Given the description of an element on the screen output the (x, y) to click on. 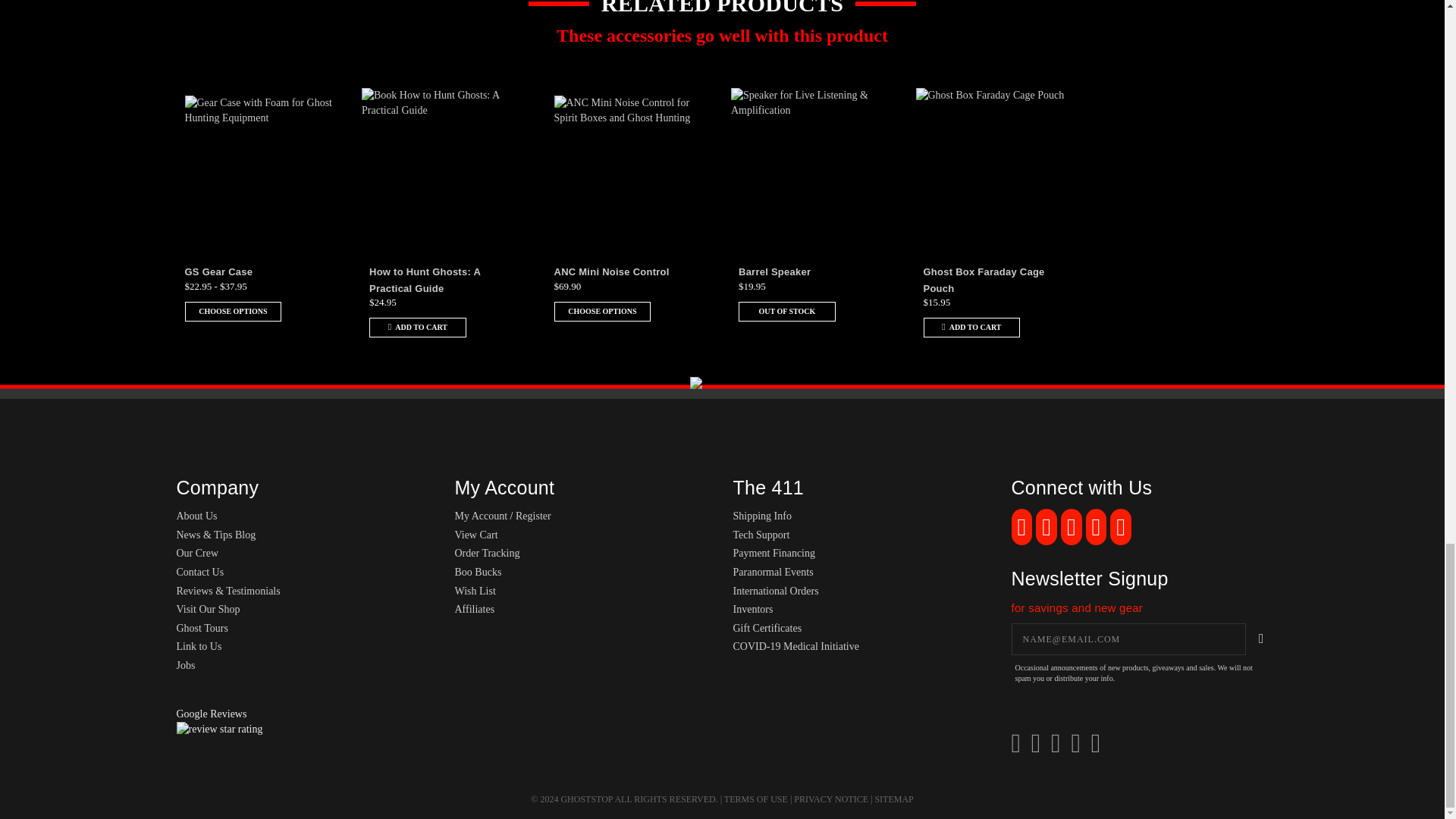
GS Gear Case (218, 271)
How to Hunt Ghosts: A Practical Guide (424, 280)
Book How to Hunt Ghosts: A Practical Guide (445, 170)
ANC Mini Noise Control for Spirit Boxes and Ghost Hunting (628, 171)
Gear Case with Foam for Ghost Hunting Equipment (260, 171)
